Given the description of an element on the screen output the (x, y) to click on. 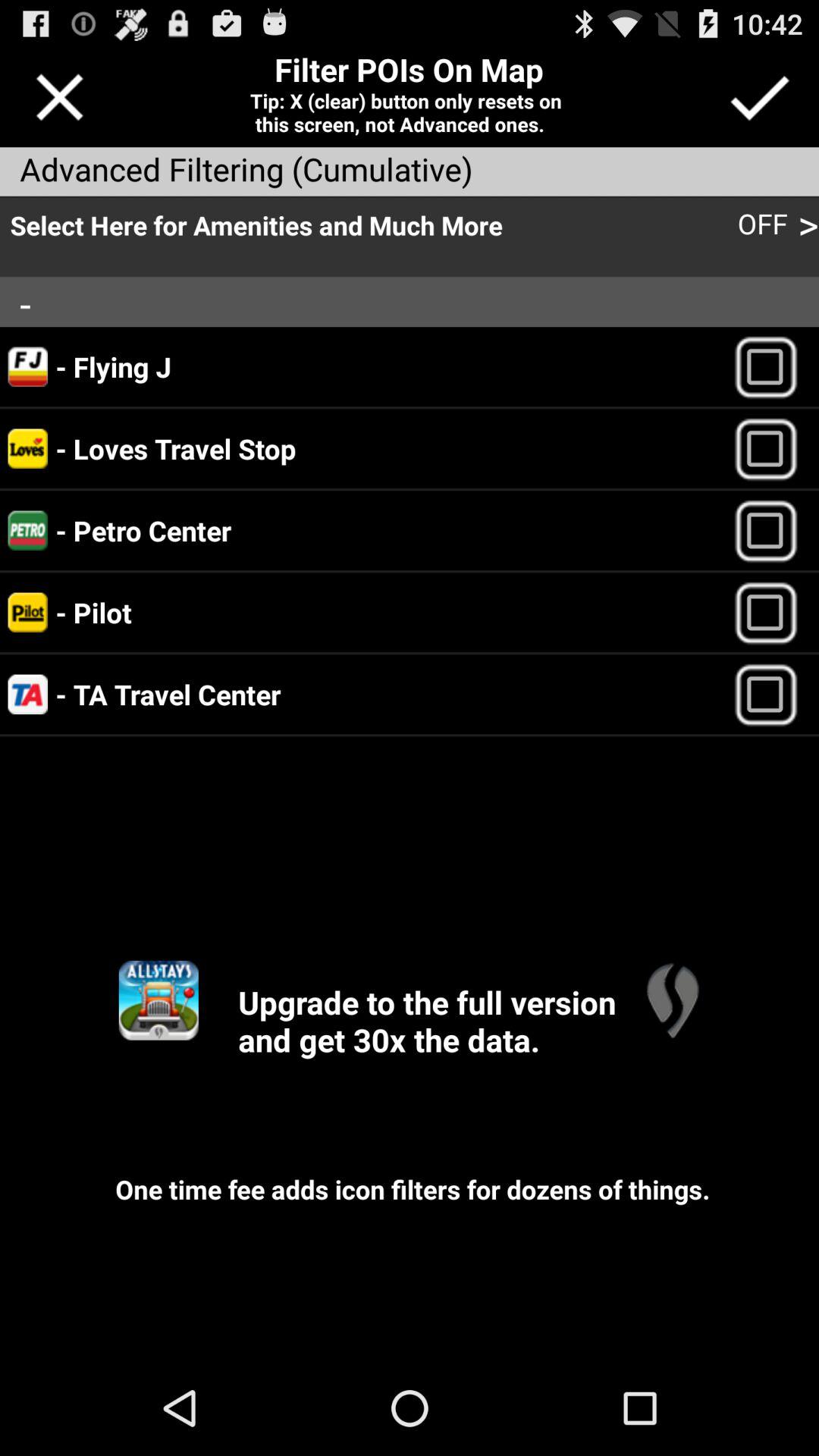
toggle flying j on (772, 366)
